Given the description of an element on the screen output the (x, y) to click on. 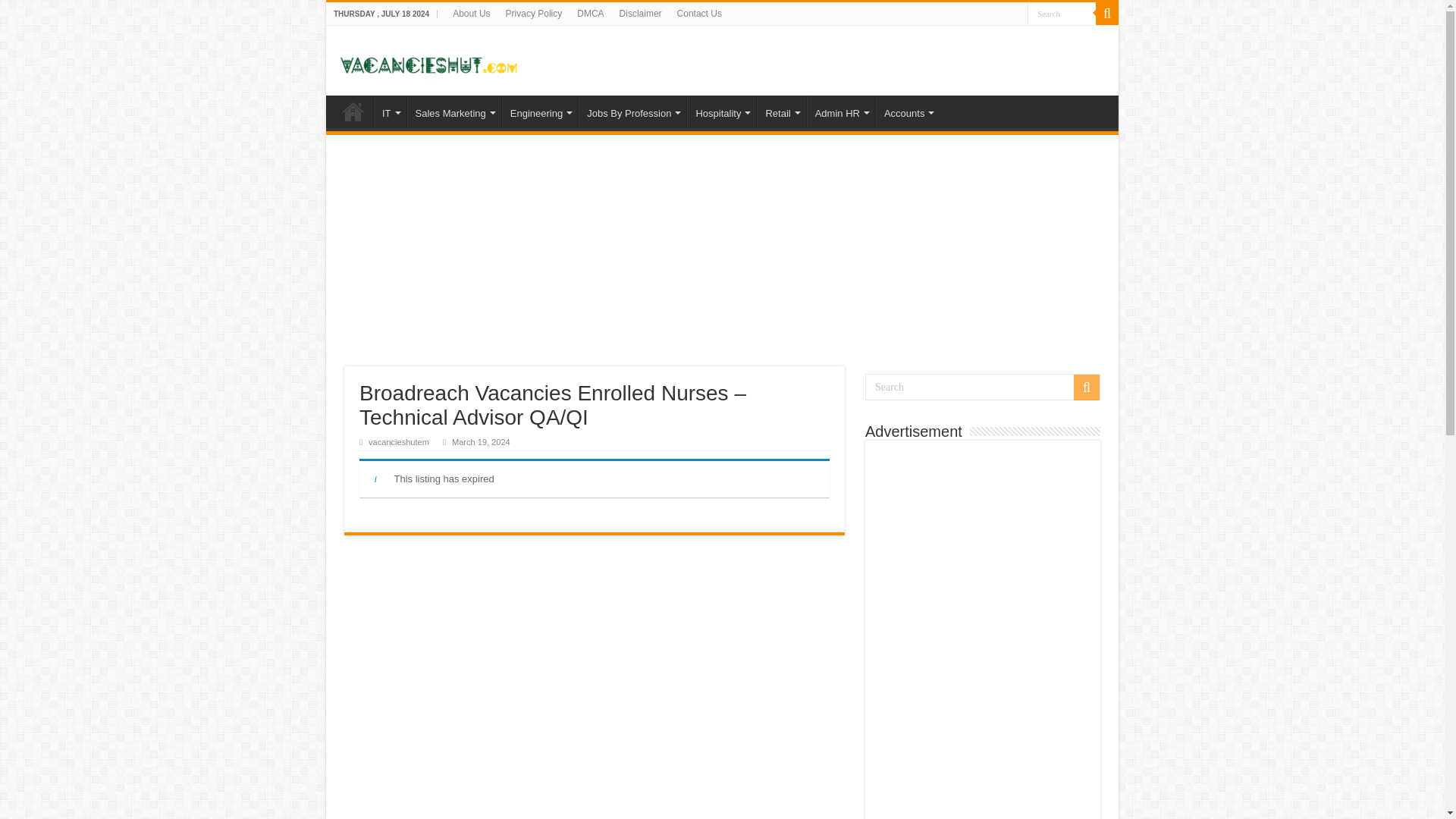
Search (982, 386)
Search (1061, 13)
Vacancieshut (428, 58)
Search (1061, 13)
Search (1061, 13)
Advertisement (982, 633)
